Given the description of an element on the screen output the (x, y) to click on. 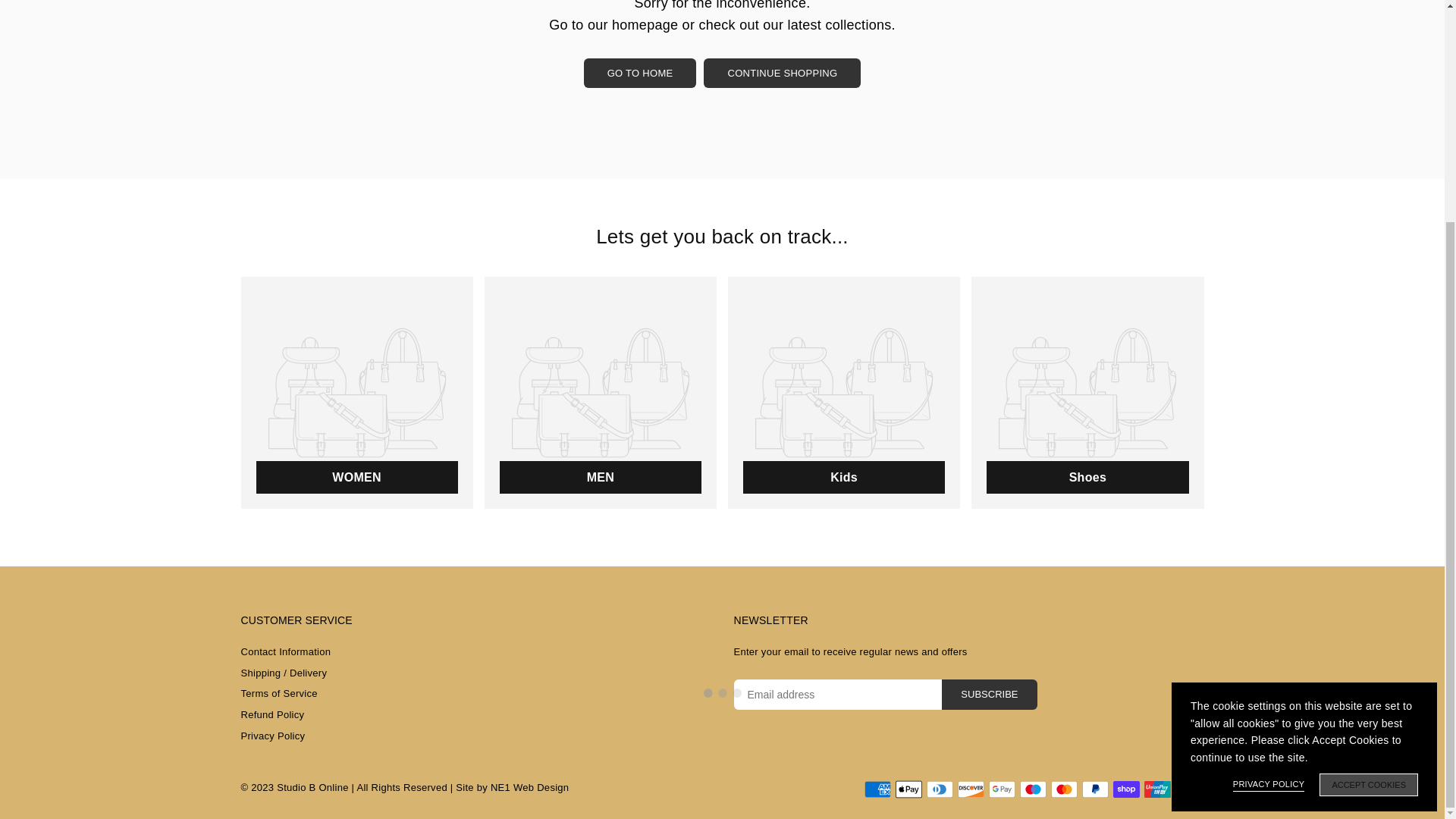
Discover (970, 789)
Diners Club (939, 789)
WOMEN (357, 392)
PayPal (1094, 789)
Mastercard (1064, 789)
American Express (877, 789)
MEN (600, 392)
Union Pay (1156, 789)
Google Pay (1001, 789)
Shop Pay (1126, 789)
